Given the description of an element on the screen output the (x, y) to click on. 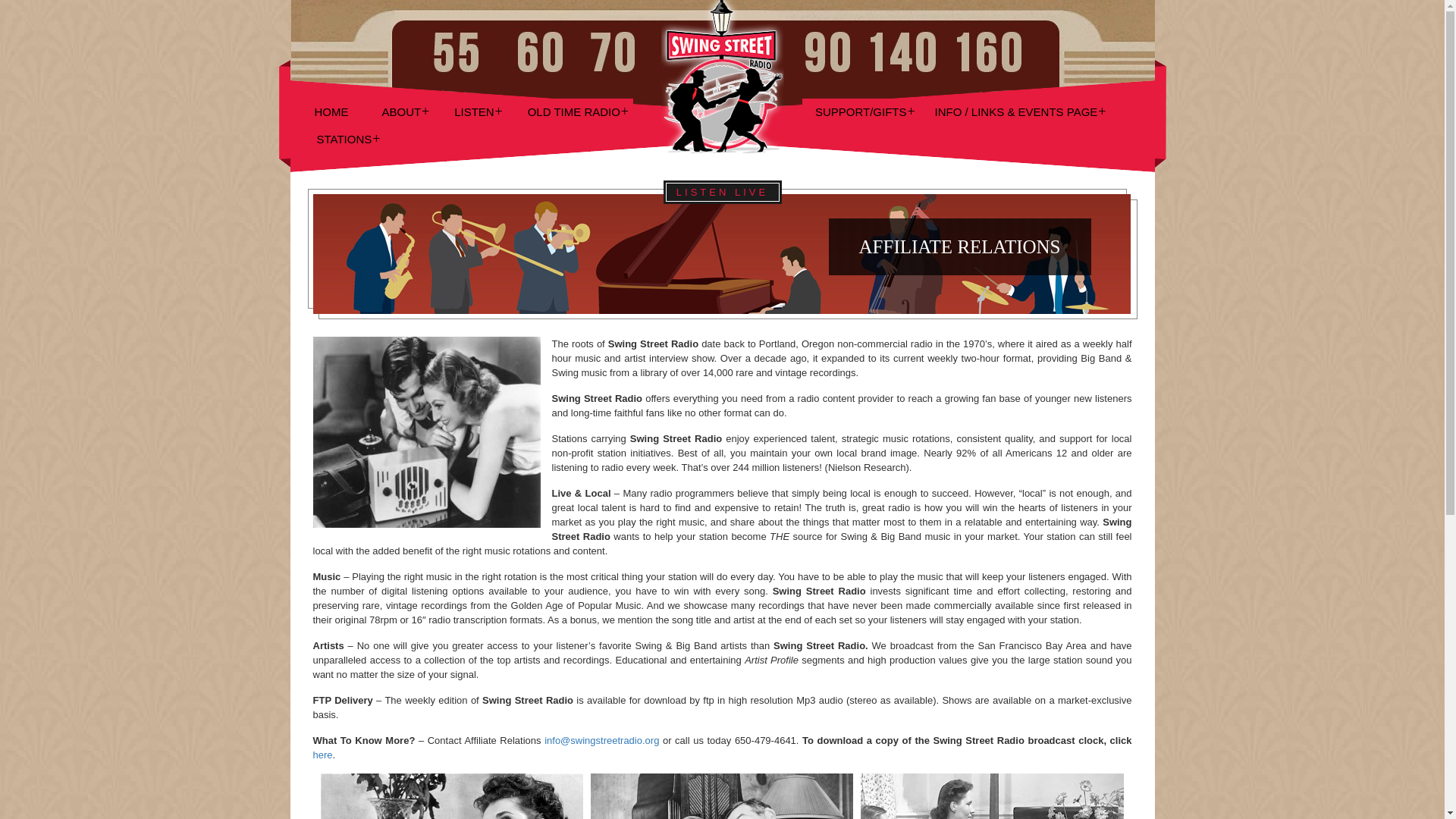
STATIONS (343, 139)
OLD TIME RADIO (574, 112)
HOME (331, 112)
LISTEN (473, 112)
LISTEN LIVE (721, 191)
here (322, 754)
ABOUT (400, 112)
